Given the description of an element on the screen output the (x, y) to click on. 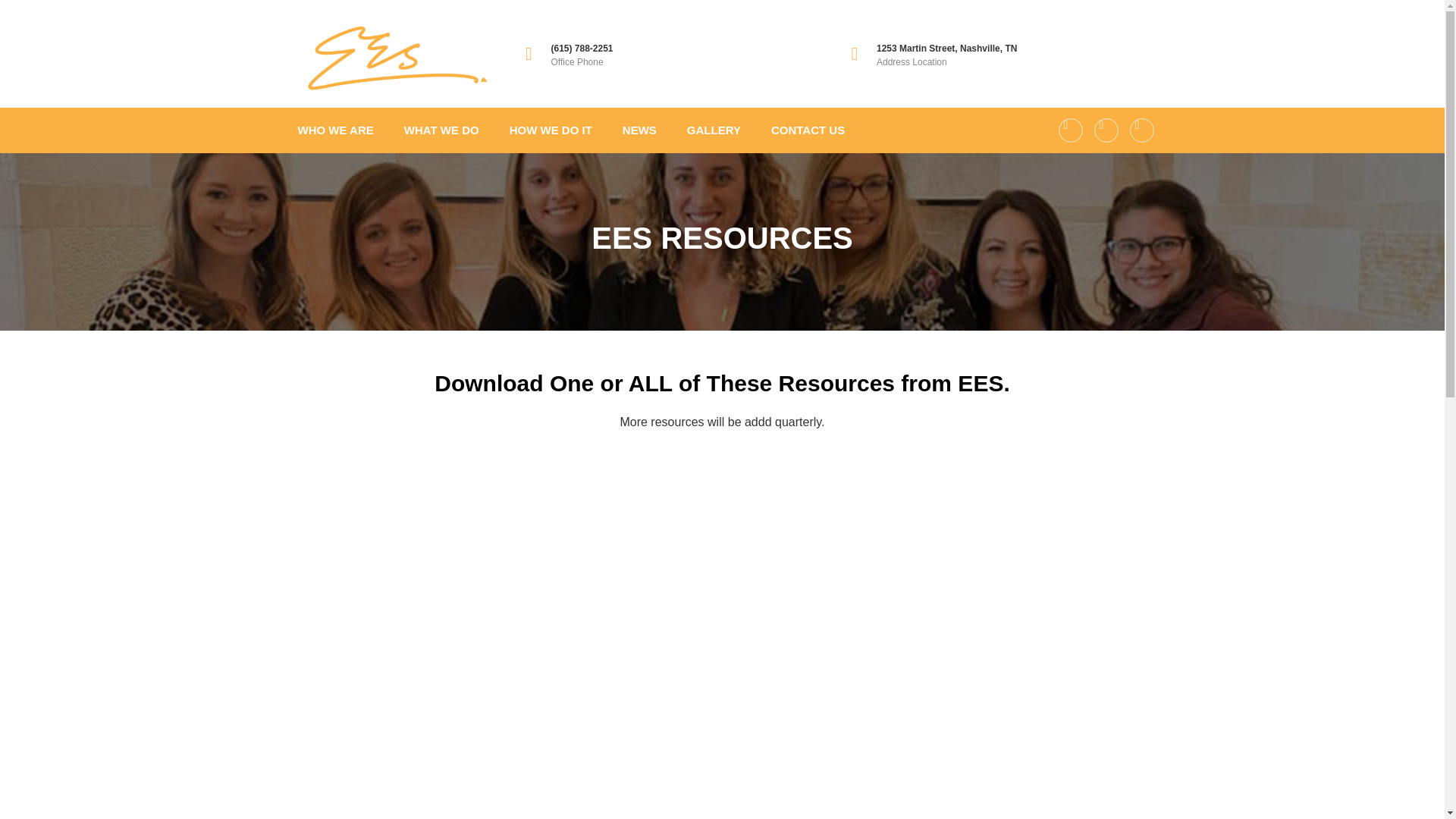
HOW WE DO IT (550, 130)
GALLERY (713, 130)
WHO WE ARE (334, 130)
CONTACT US (806, 130)
NEWS (638, 130)
WHAT WE DO (441, 130)
